Given the description of an element on the screen output the (x, y) to click on. 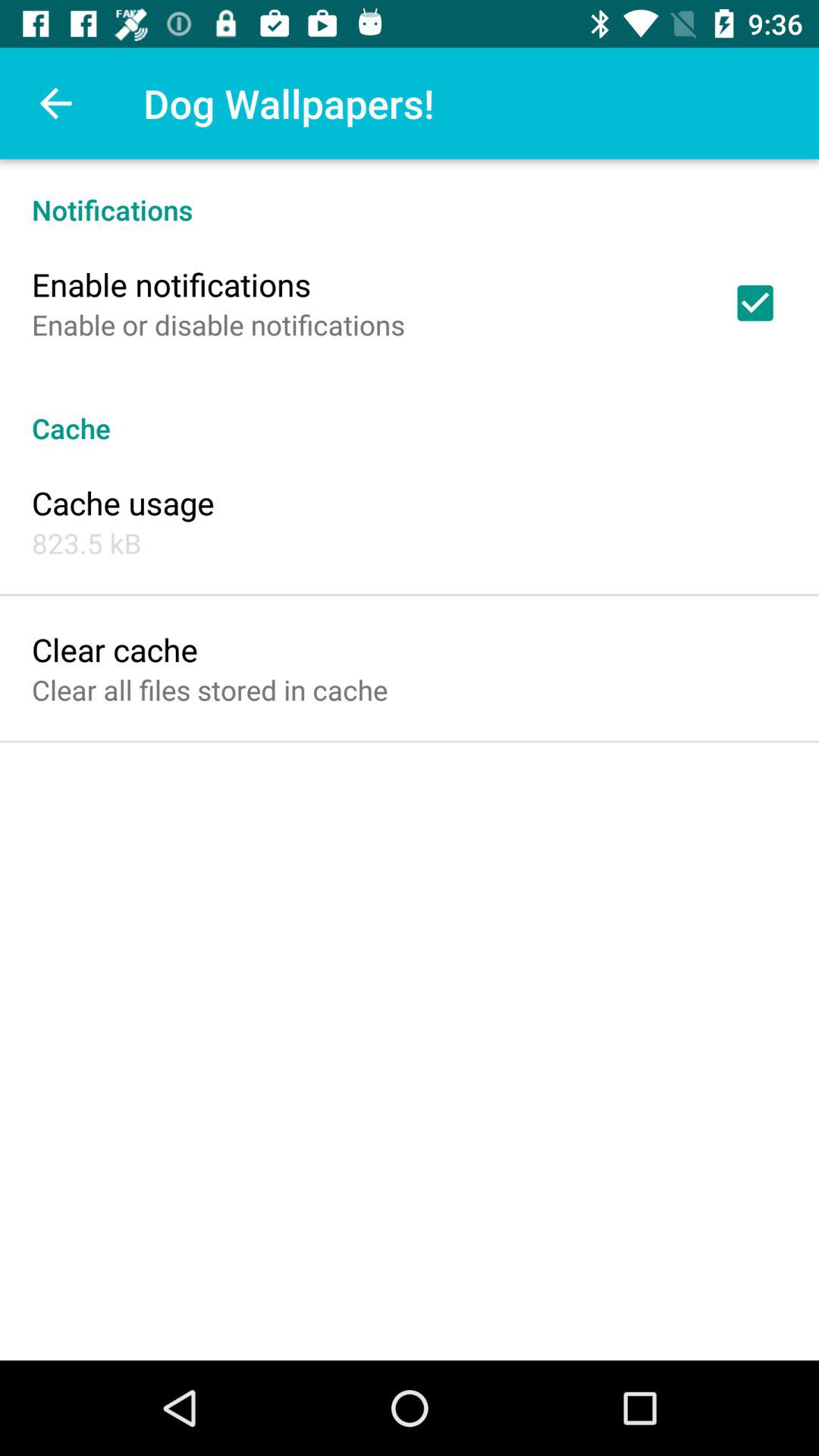
select icon above notifications icon (55, 103)
